Given the description of an element on the screen output the (x, y) to click on. 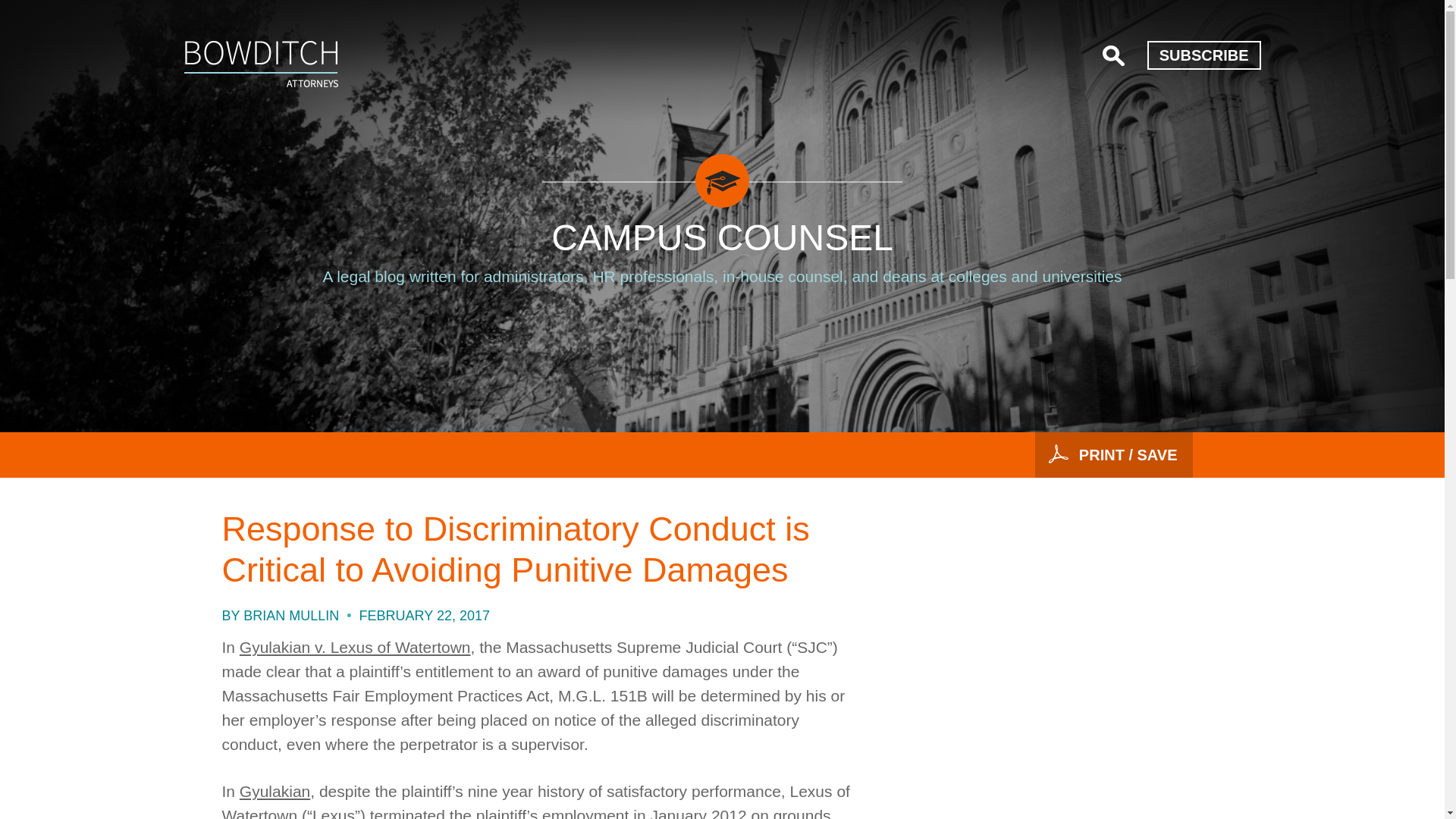
SUBSCRIBE (1203, 54)
CAMPUS COUNSEL (722, 237)
Posts by Brian Mullin (291, 615)
BRIAN MULLIN (291, 615)
Campus Counsel (260, 63)
